Given the description of an element on the screen output the (x, y) to click on. 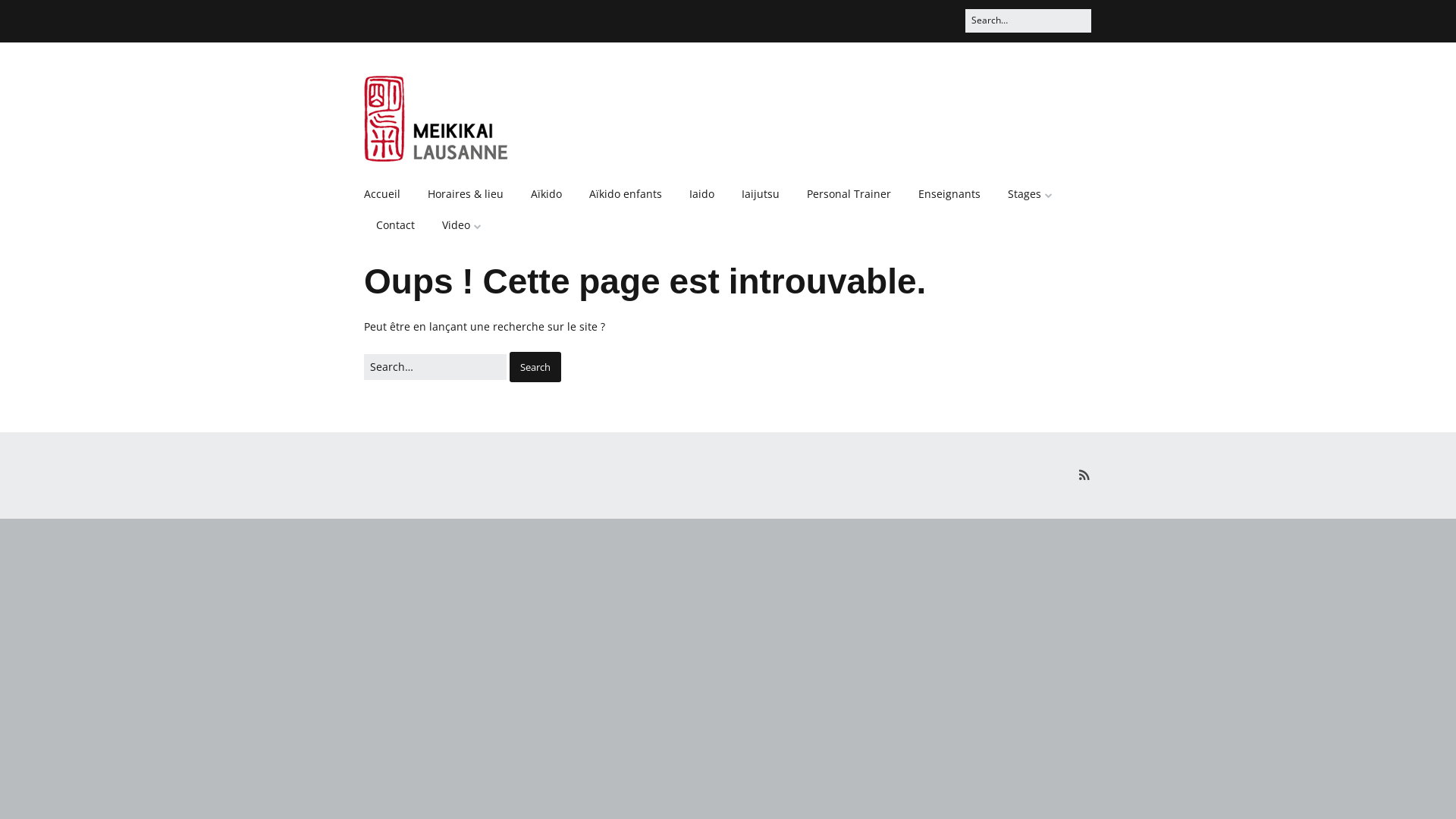
Search Element type: text (535, 366)
Personal Trainer Element type: text (848, 194)
Accueil Element type: text (388, 194)
RSS Element type: text (1083, 475)
Search Element type: text (26, 15)
Video Element type: text (461, 225)
Contact Element type: text (395, 225)
Stages Element type: text (1029, 194)
Enseignants Element type: text (949, 194)
Iaijutsu Element type: text (760, 194)
Iaido Element type: text (701, 194)
Horaires & lieu Element type: text (465, 194)
Aller au contenu principal Element type: text (363, 177)
